Given the description of an element on the screen output the (x, y) to click on. 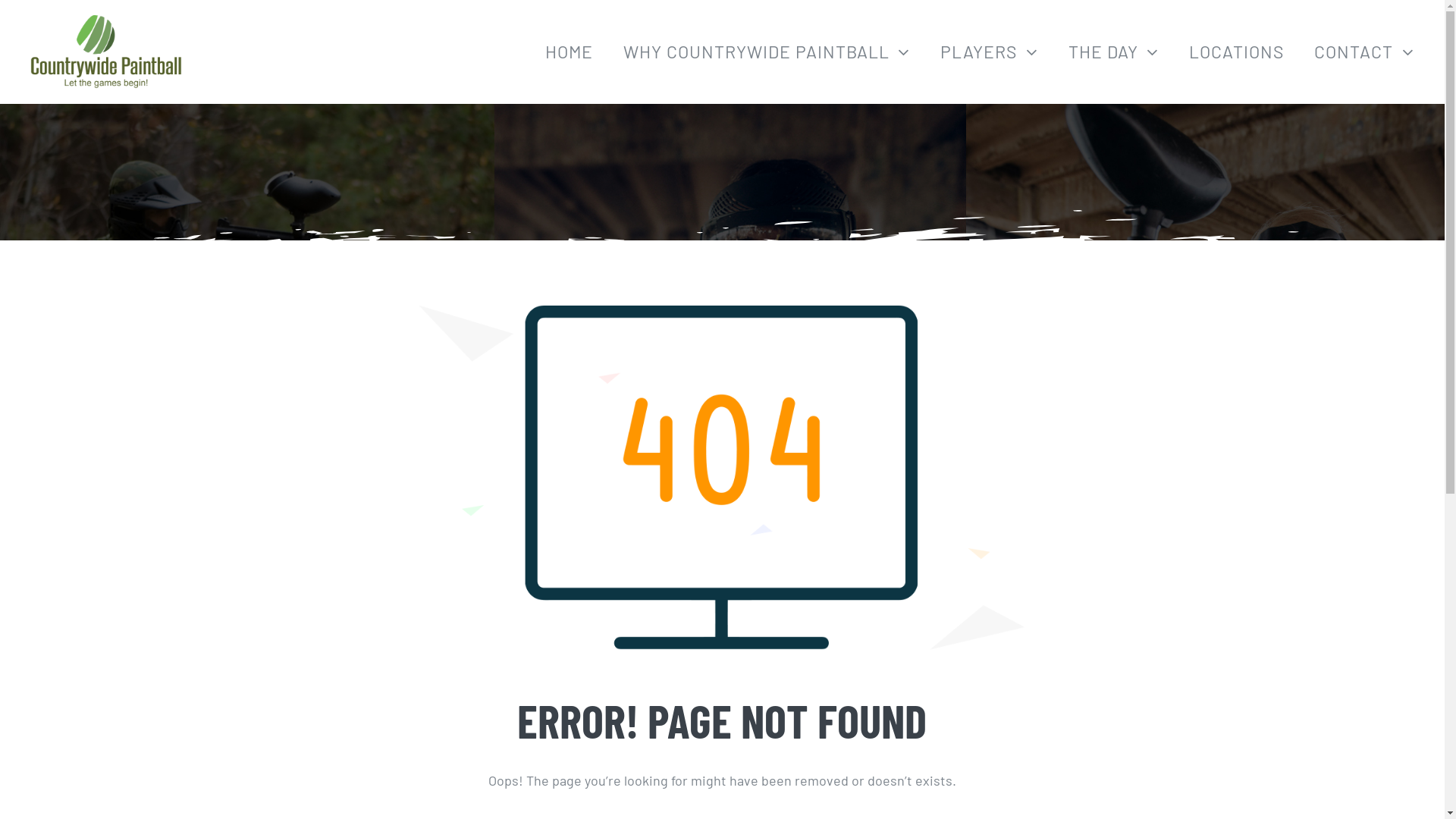
PLAYERS Element type: text (989, 52)
LOCATIONS Element type: text (1236, 52)
THE DAY Element type: text (1113, 52)
404-not-found-error Element type: hover (721, 476)
HOME Element type: text (569, 52)
CONTACT Element type: text (1364, 52)
WHY COUNTRYWIDE PAINTBALL Element type: text (766, 52)
